Given the description of an element on the screen output the (x, y) to click on. 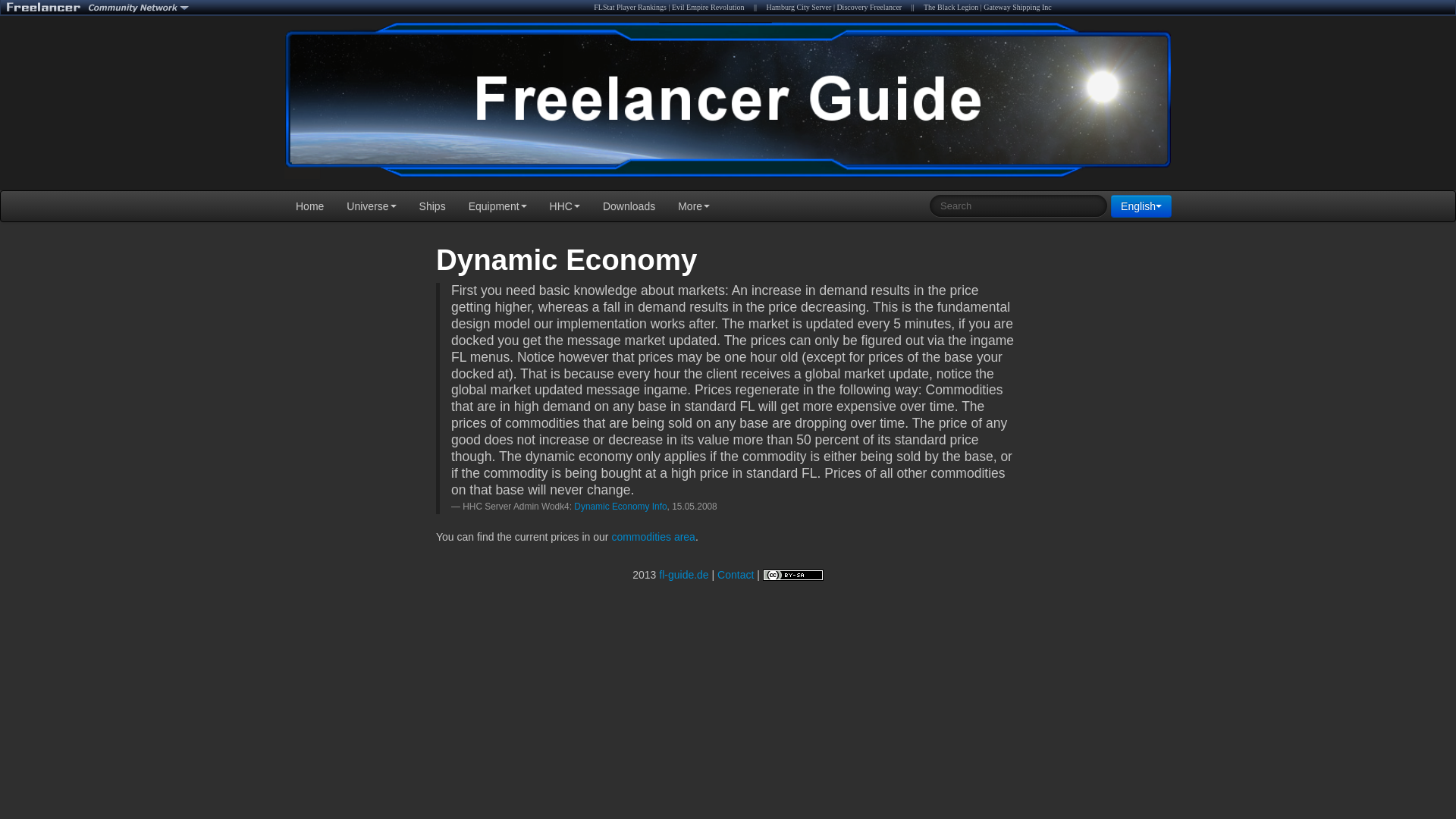
Evil Empire Revolution (707, 7)
FLStat Player Rankings (630, 7)
The Black Legion (950, 7)
Home (308, 205)
Ships (432, 205)
Discovery Freelancer (868, 7)
Equipment (497, 205)
Universe (370, 205)
Dynamic Economy Info (619, 506)
Hamburg City Server (798, 7)
Gateway Shipping Inc (1017, 7)
